Given the description of an element on the screen output the (x, y) to click on. 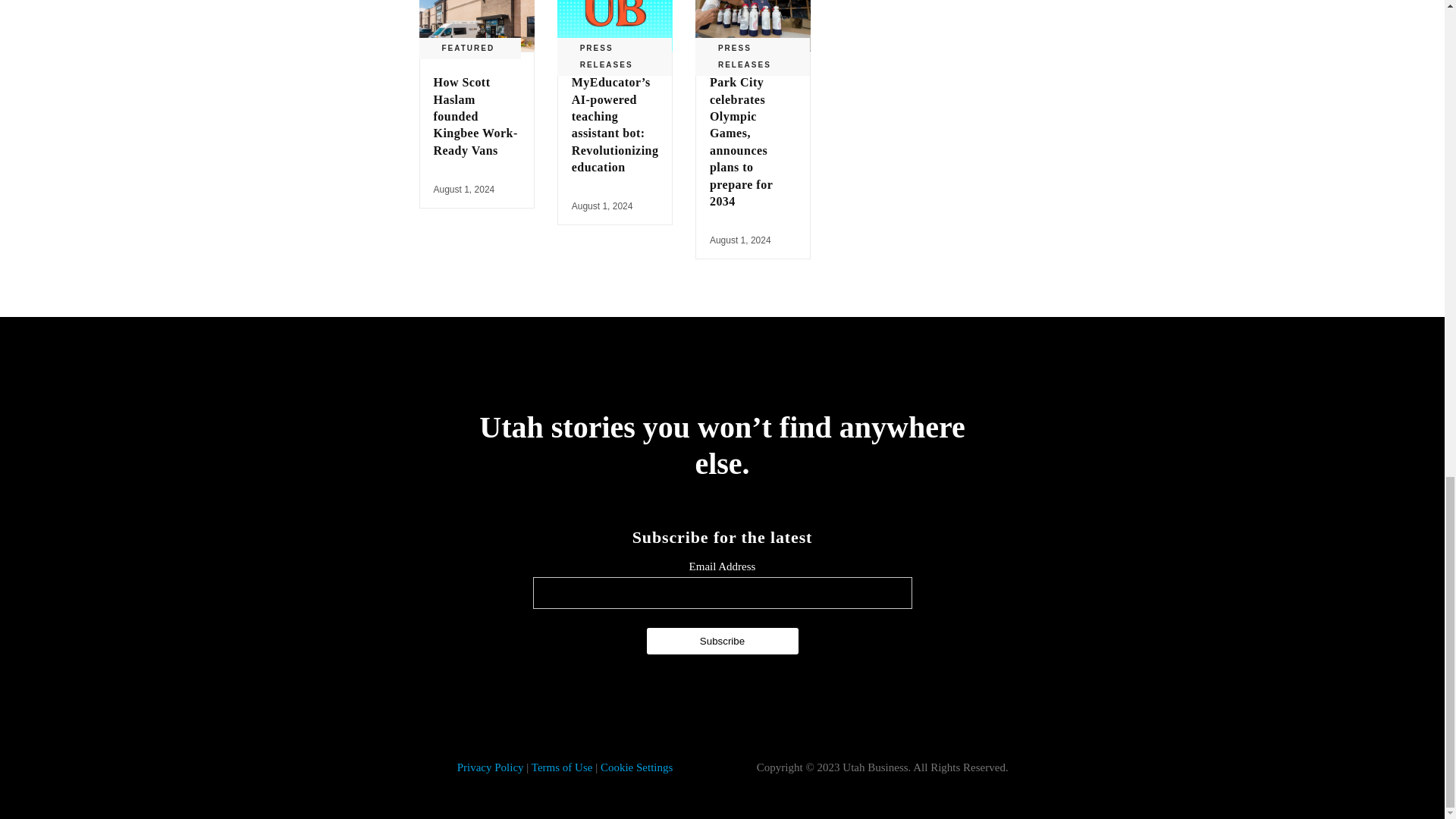
FEATURED (468, 48)
Subscribe (721, 641)
How Scott Haslam founded Kingbee Work-Ready Vans (476, 25)
How Scott Haslam founded Kingbee Work-Ready Vans (475, 116)
